Given the description of an element on the screen output the (x, y) to click on. 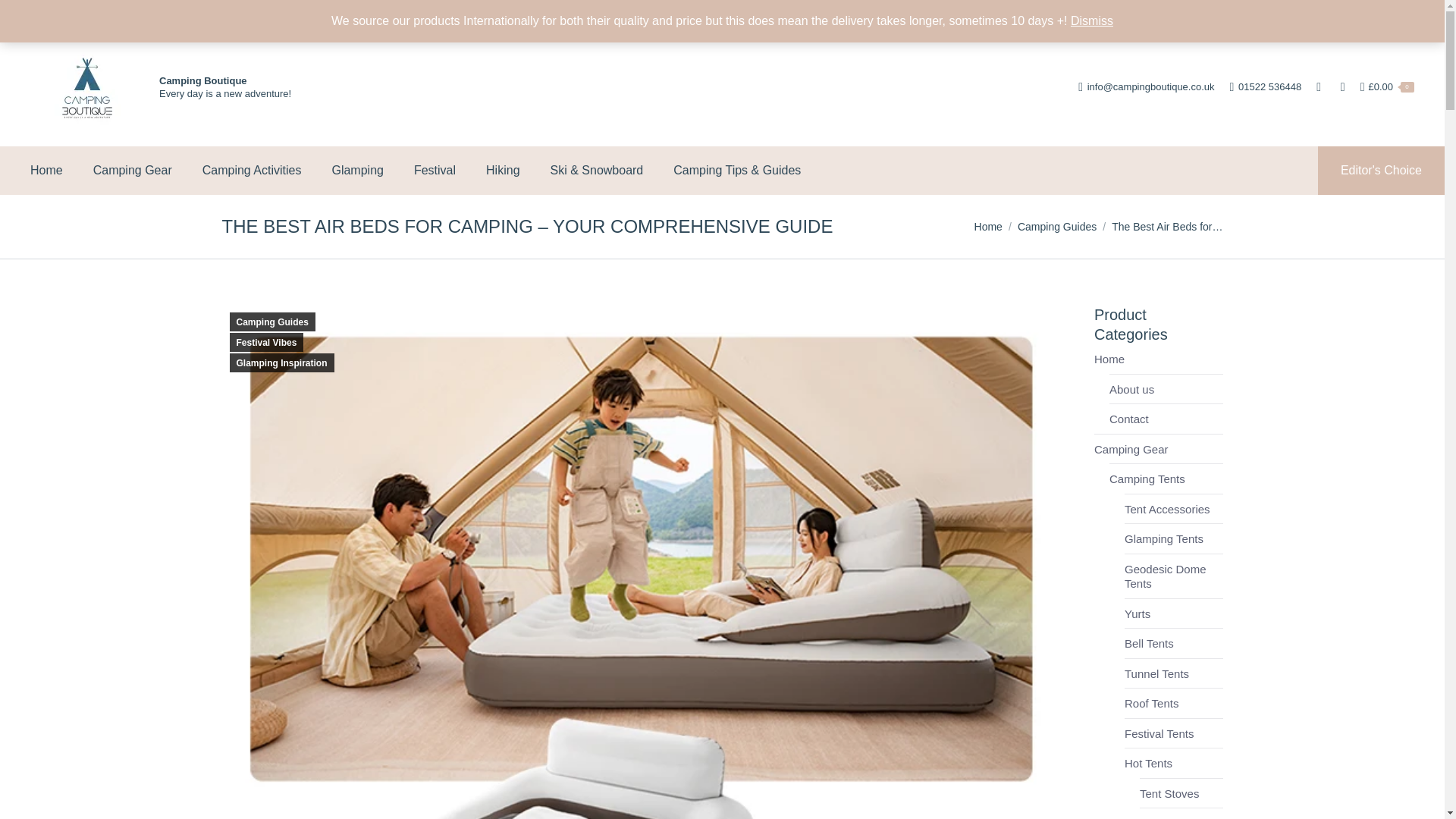
Camping Guides (1056, 226)
Home (988, 226)
Home (46, 169)
Go! (22, 15)
Camping Gear (132, 169)
